Given the description of an element on the screen output the (x, y) to click on. 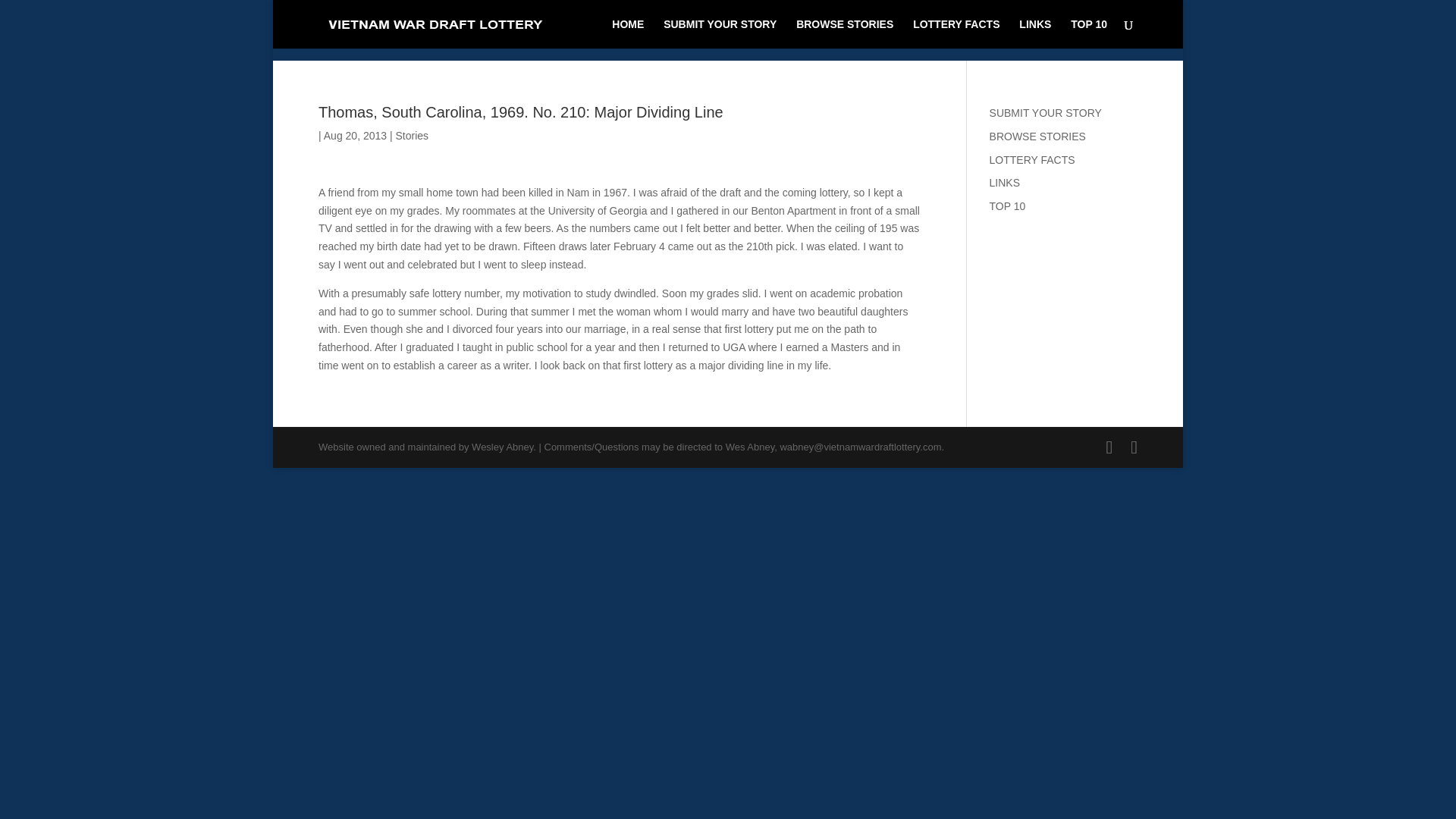
HOME (627, 33)
TOP 10 (1008, 205)
SUBMIT YOUR STORY (719, 33)
LOTTERY FACTS (1032, 159)
BROWSE STORIES (1038, 136)
LOTTERY FACTS (955, 33)
SUBMIT YOUR STORY (1046, 112)
TOP 10 (1088, 33)
BROWSE STORIES (844, 33)
LINKS (1005, 182)
LINKS (1035, 33)
Stories (411, 135)
